Given the description of an element on the screen output the (x, y) to click on. 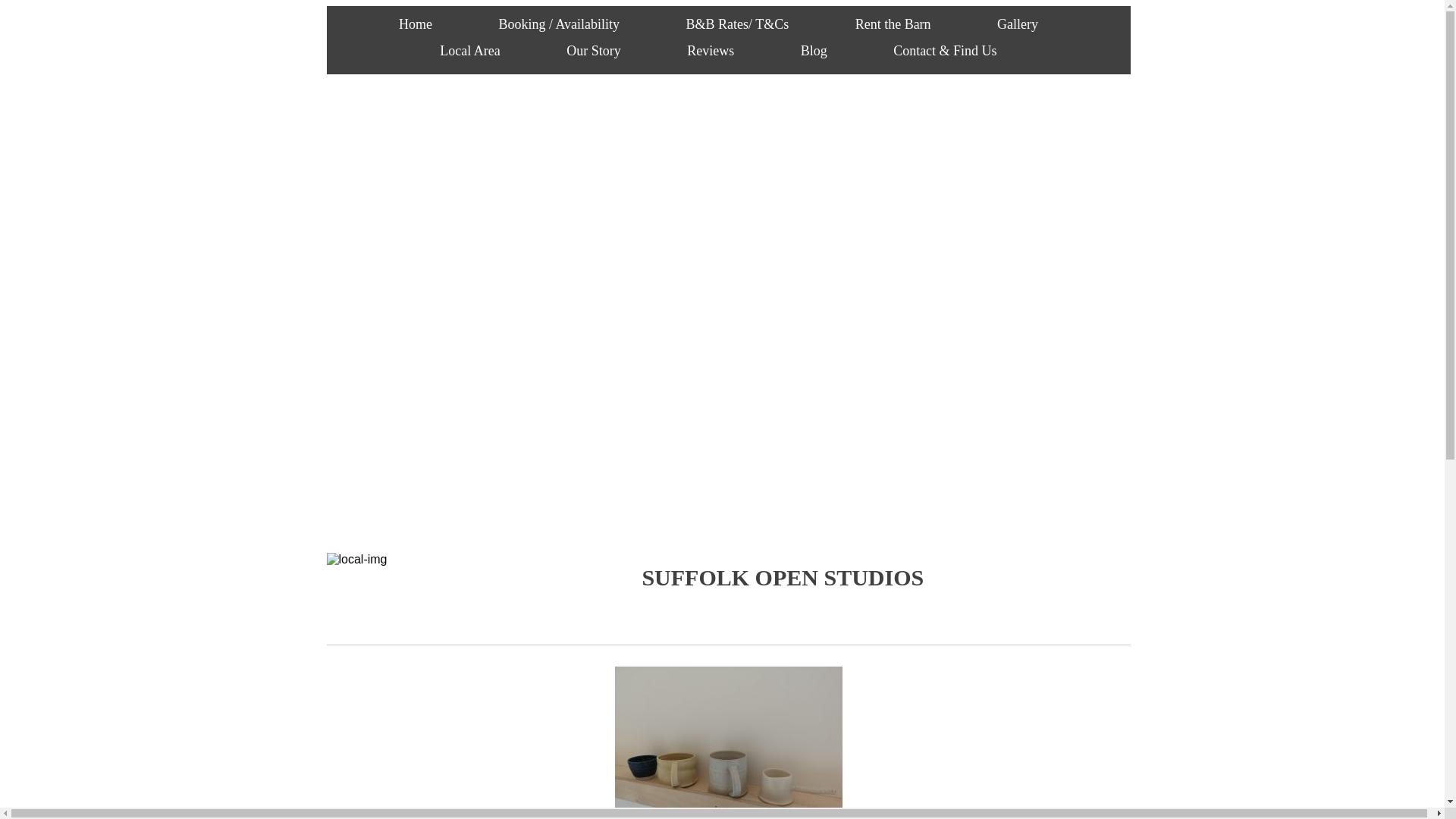
Our Story (593, 50)
Rent the Barn (892, 23)
Gallery (1017, 23)
Local Area (469, 50)
Home (415, 23)
Blog (813, 50)
Reviews (710, 50)
